Given the description of an element on the screen output the (x, y) to click on. 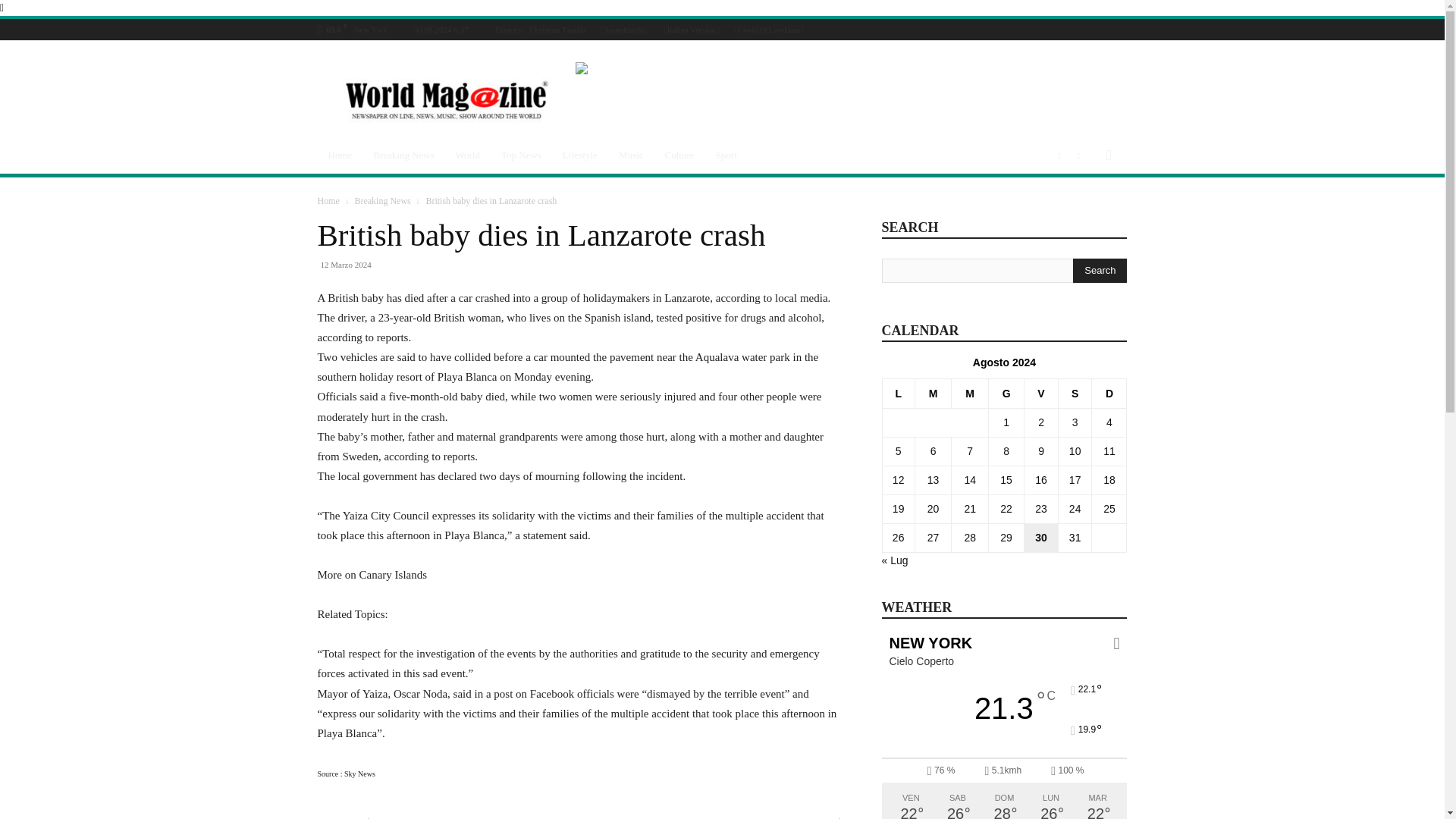
World (467, 155)
Home (339, 155)
Search (1099, 270)
Top News (520, 155)
Breaking News (403, 155)
Culture (678, 155)
View all posts in Breaking News (381, 200)
Lifestyle (579, 155)
Music (630, 155)
Breaking News (381, 200)
